Given the description of an element on the screen output the (x, y) to click on. 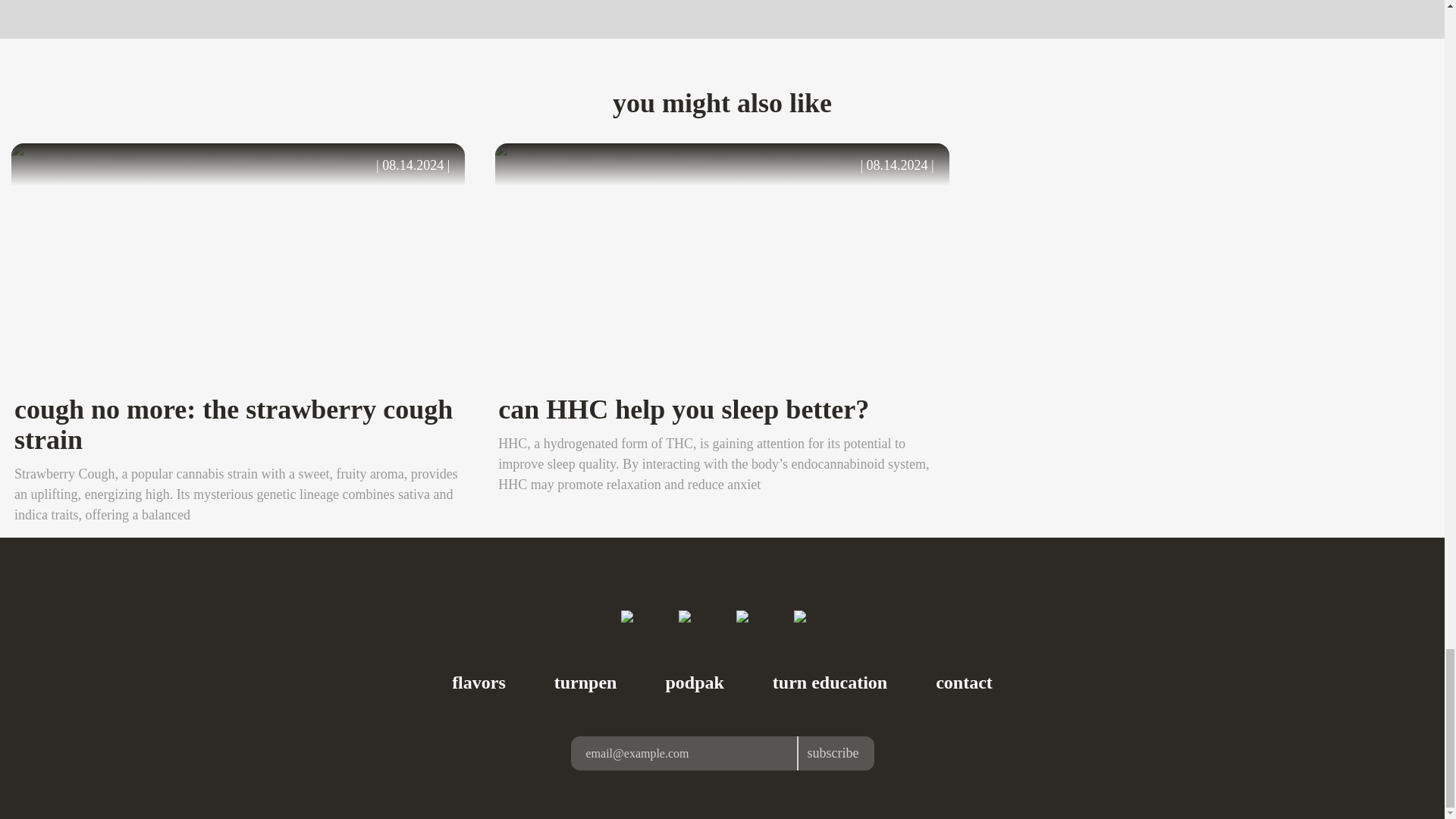
turnpen (585, 681)
turn education (829, 681)
contact (964, 681)
flavors (478, 681)
podpak (694, 681)
